Given the description of an element on the screen output the (x, y) to click on. 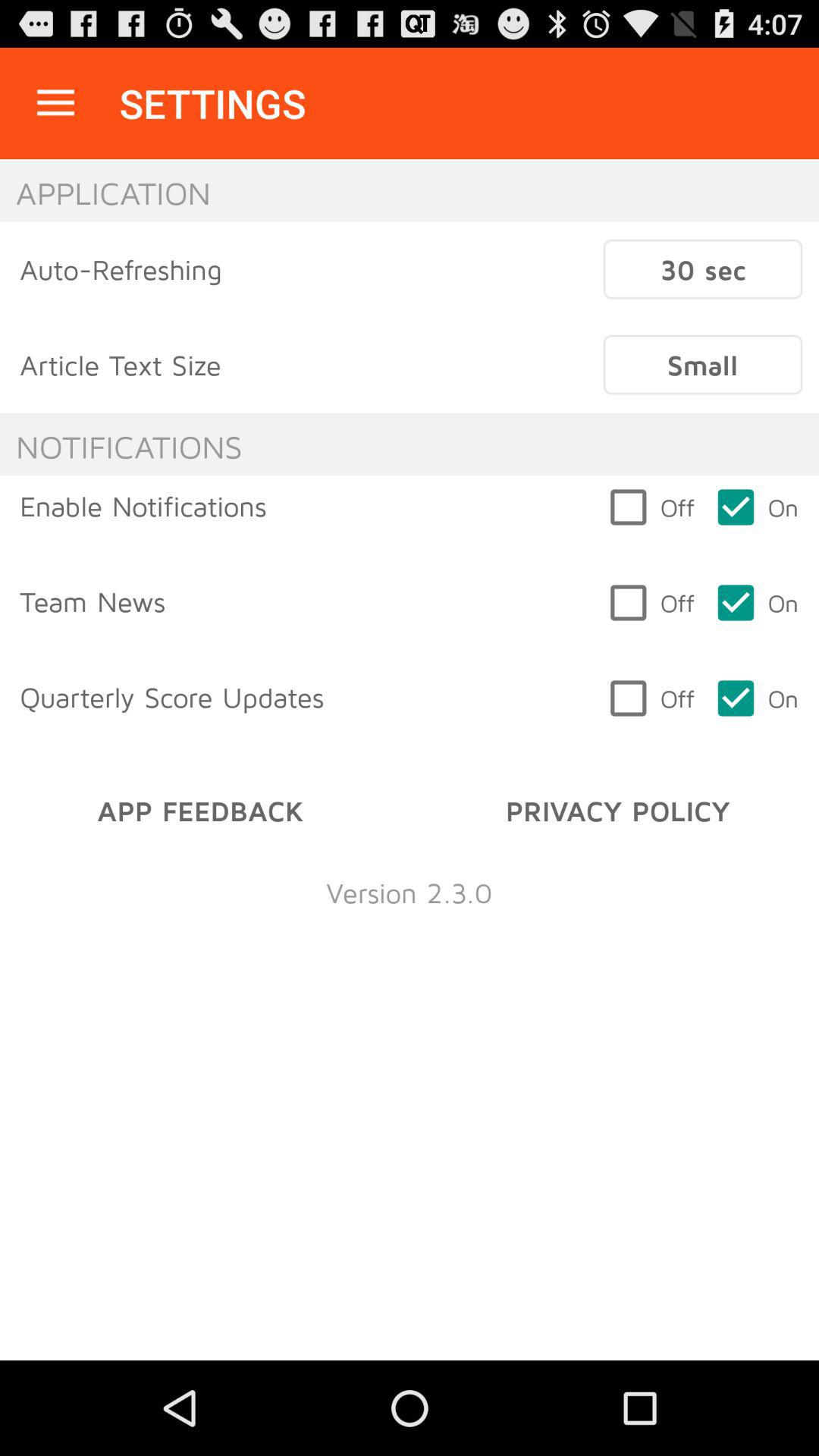
select icon next to the settings (55, 103)
